Given the description of an element on the screen output the (x, y) to click on. 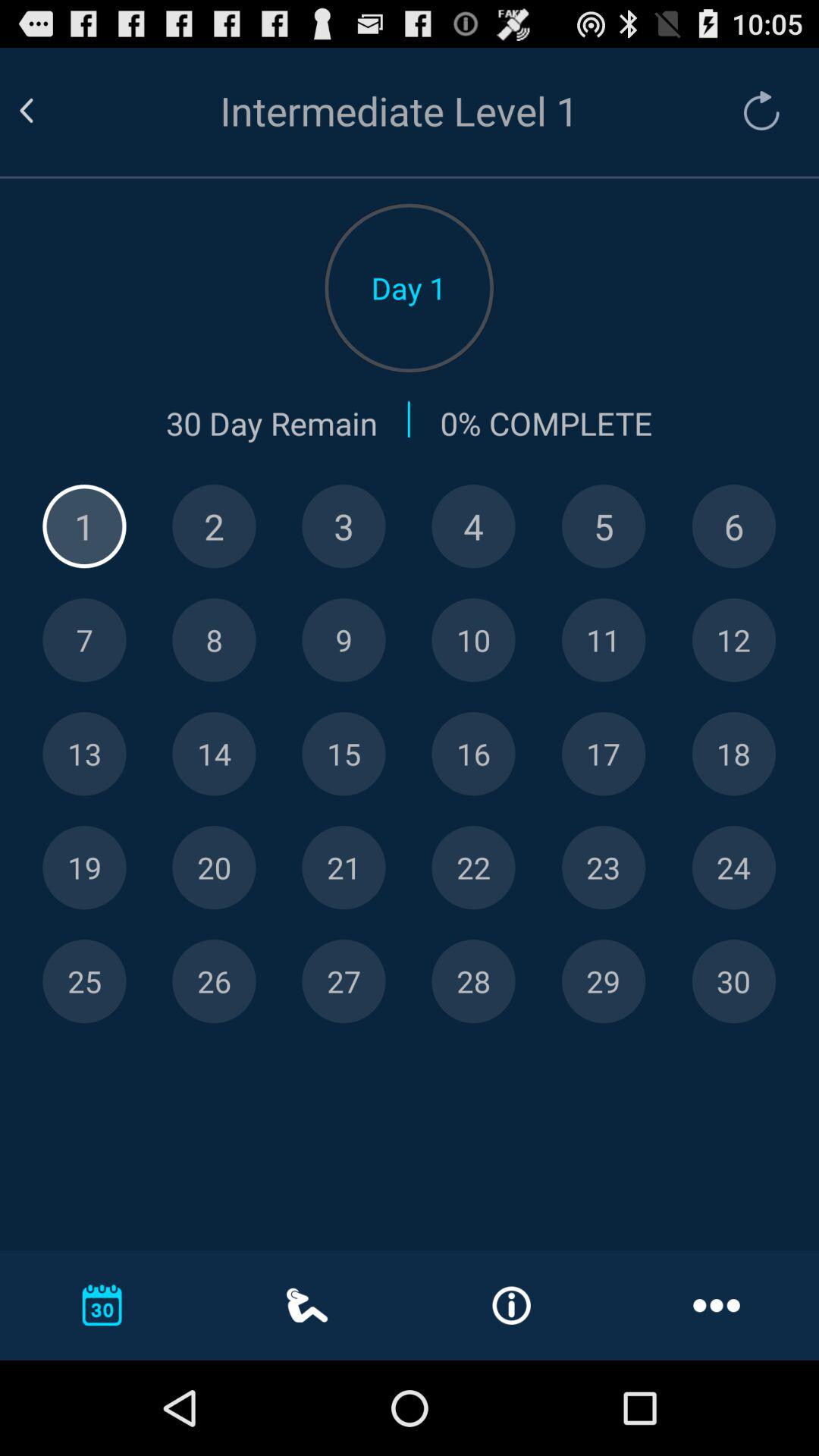
select number 26 (213, 981)
